Given the description of an element on the screen output the (x, y) to click on. 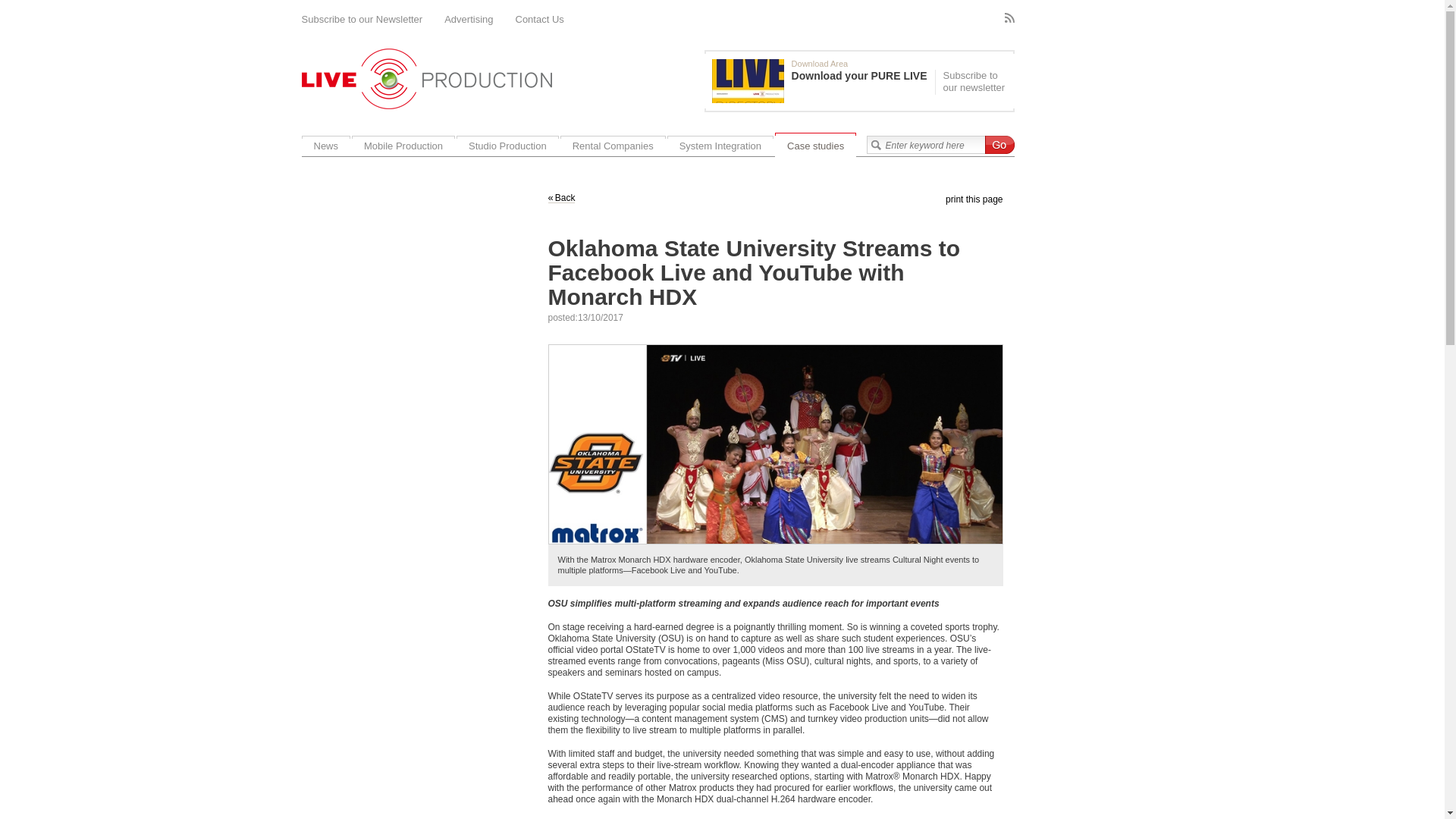
PURE LIVE 2018 (747, 80)
Contact Us (539, 19)
Publication (822, 80)
Go (998, 144)
Subscribe to our newsletter (972, 82)
Subscribe to our Newsletter (362, 19)
RSS (1008, 17)
Advertising (468, 19)
